Given the description of an element on the screen output the (x, y) to click on. 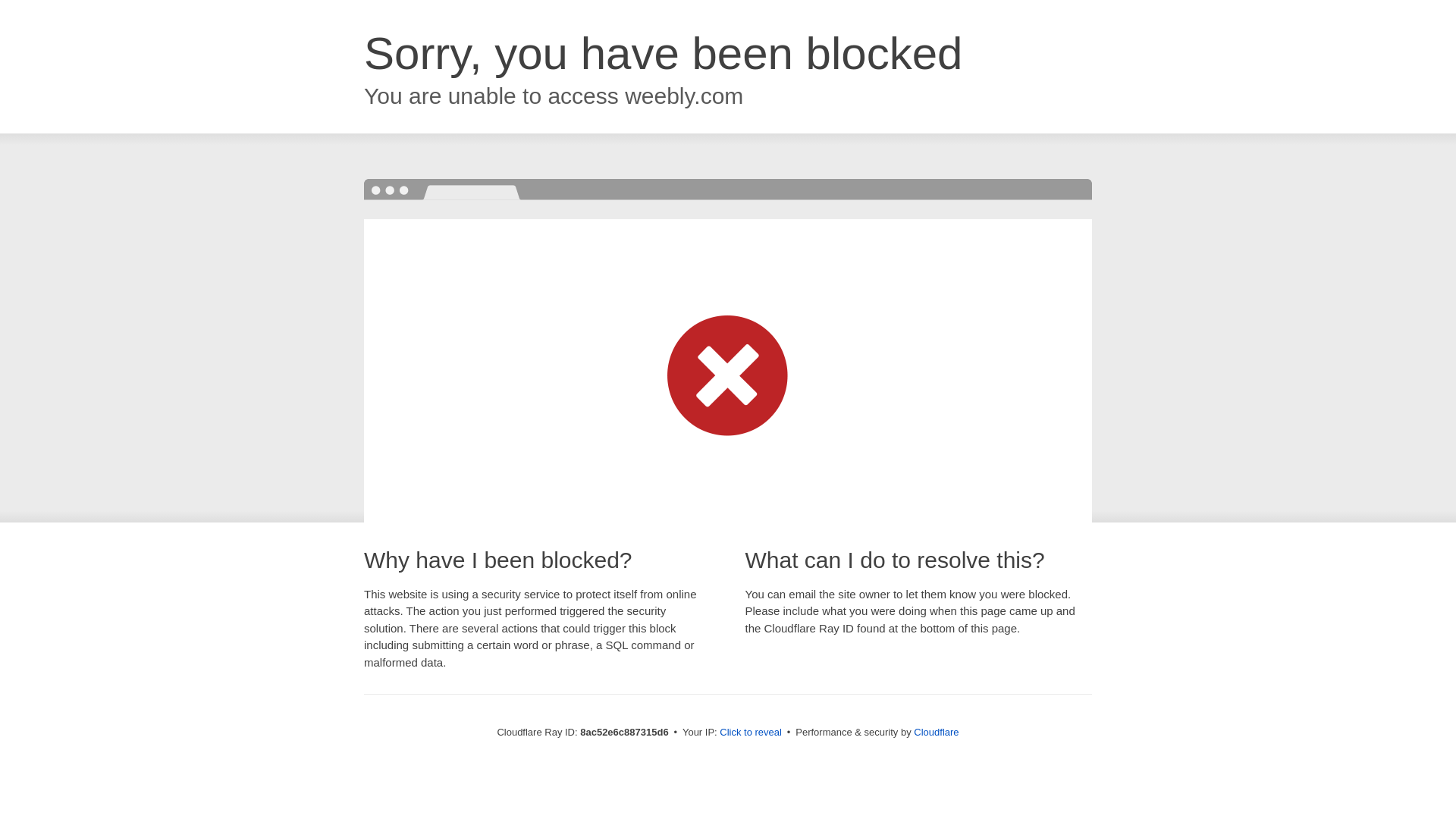
Click to reveal (750, 732)
Cloudflare (936, 731)
